Given the description of an element on the screen output the (x, y) to click on. 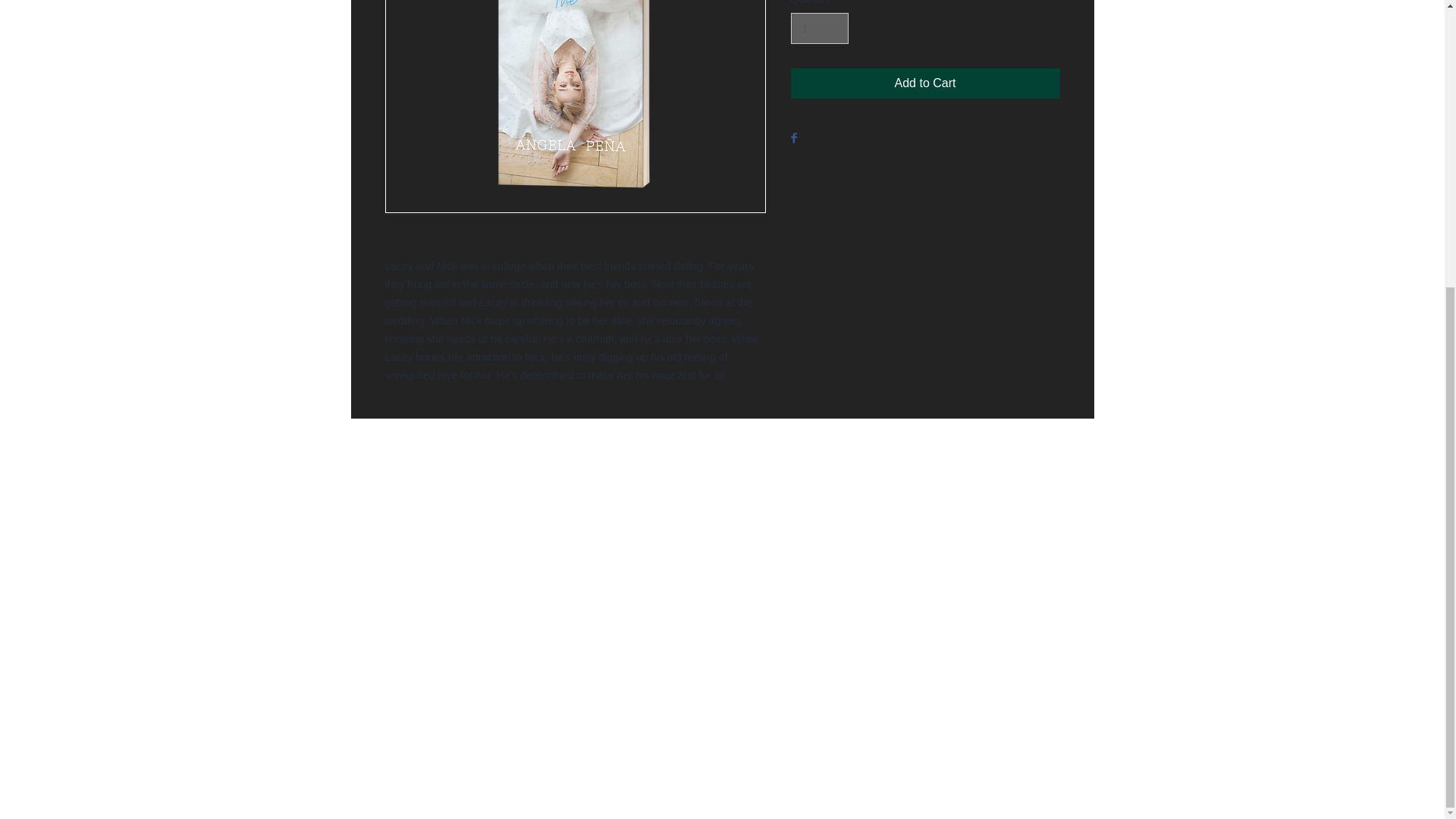
1 (818, 28)
Add to Cart (924, 82)
